Given the description of an element on the screen output the (x, y) to click on. 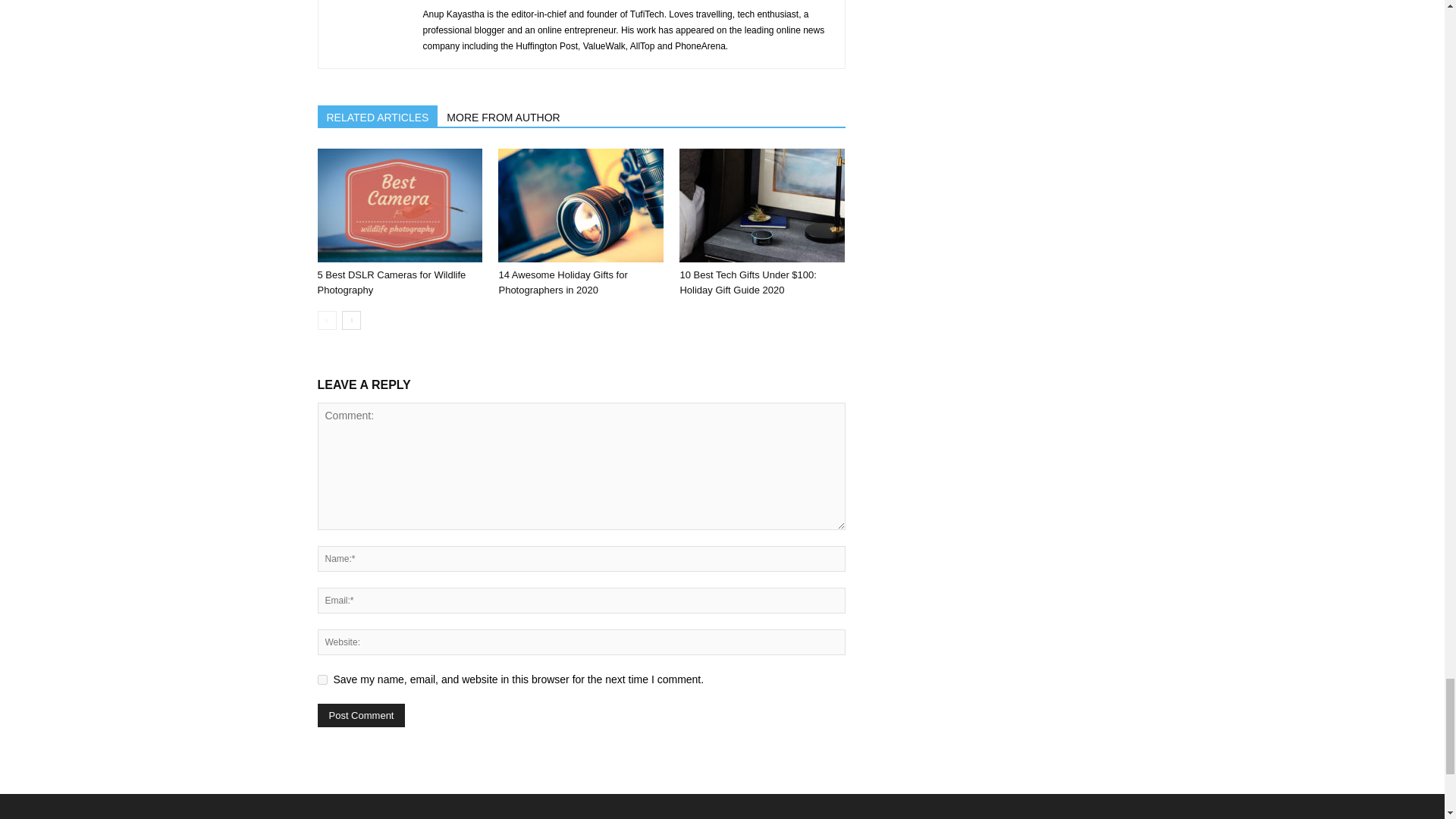
5 Best DSLR Cameras for Wildlife Photography (399, 205)
Post Comment (360, 715)
yes (321, 679)
14 Awesome Holiday Gifts for Photographers in 2020 (580, 205)
5 Best DSLR Cameras for Wildlife Photography (391, 282)
14 Awesome Holiday Gifts for Photographers in 2020 (562, 282)
